Given the description of an element on the screen output the (x, y) to click on. 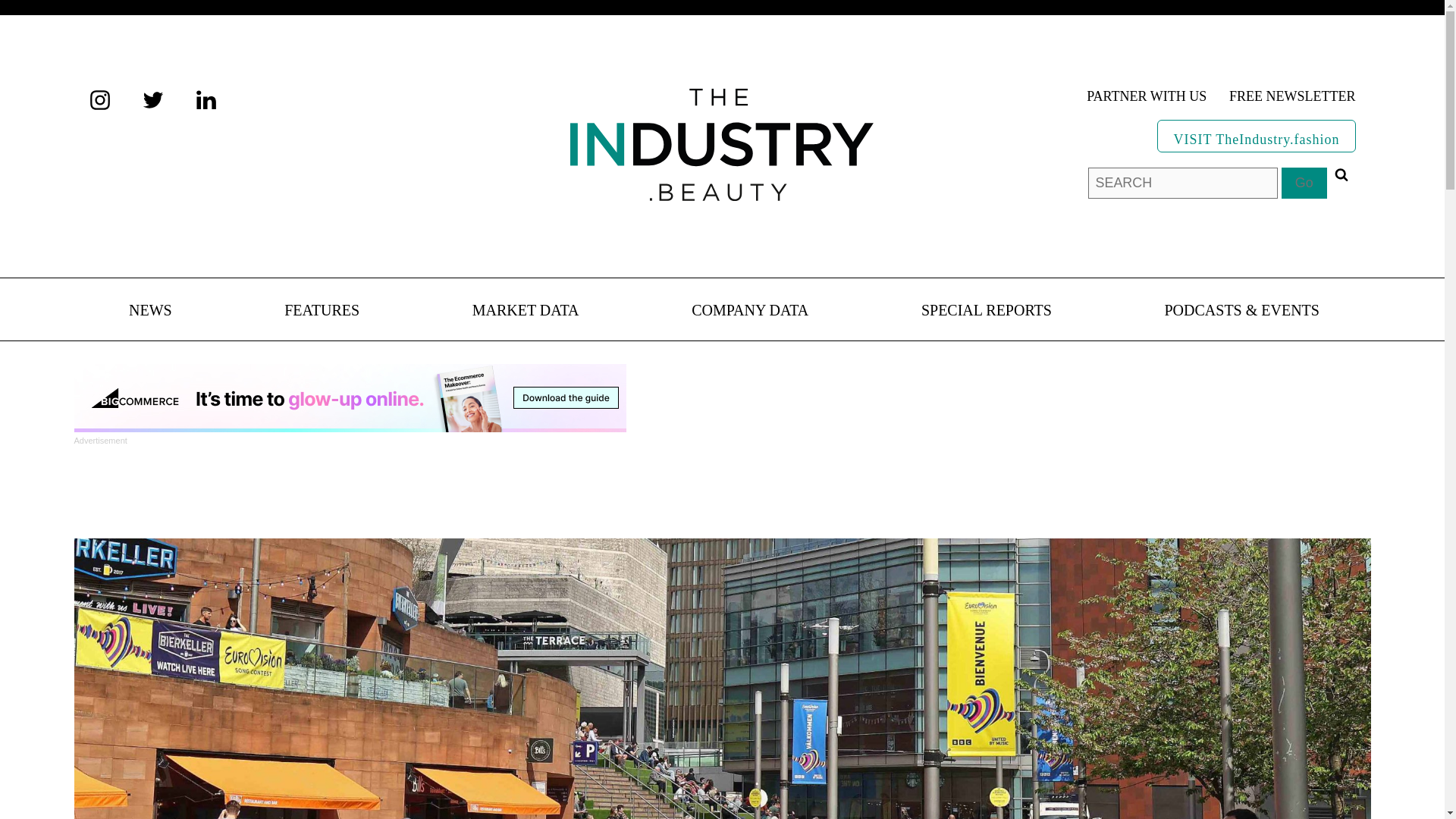
MARKET DATA (525, 311)
VISIT TheIndustry.fashion (1256, 135)
NEWS (150, 311)
SPECIAL REPORTS (986, 311)
Go (1303, 183)
PARTNER WITH US (1146, 96)
COMPANY DATA (749, 311)
FEATURES (321, 311)
FREE NEWSLETTER (1291, 96)
Go (1303, 183)
